Given the description of an element on the screen output the (x, y) to click on. 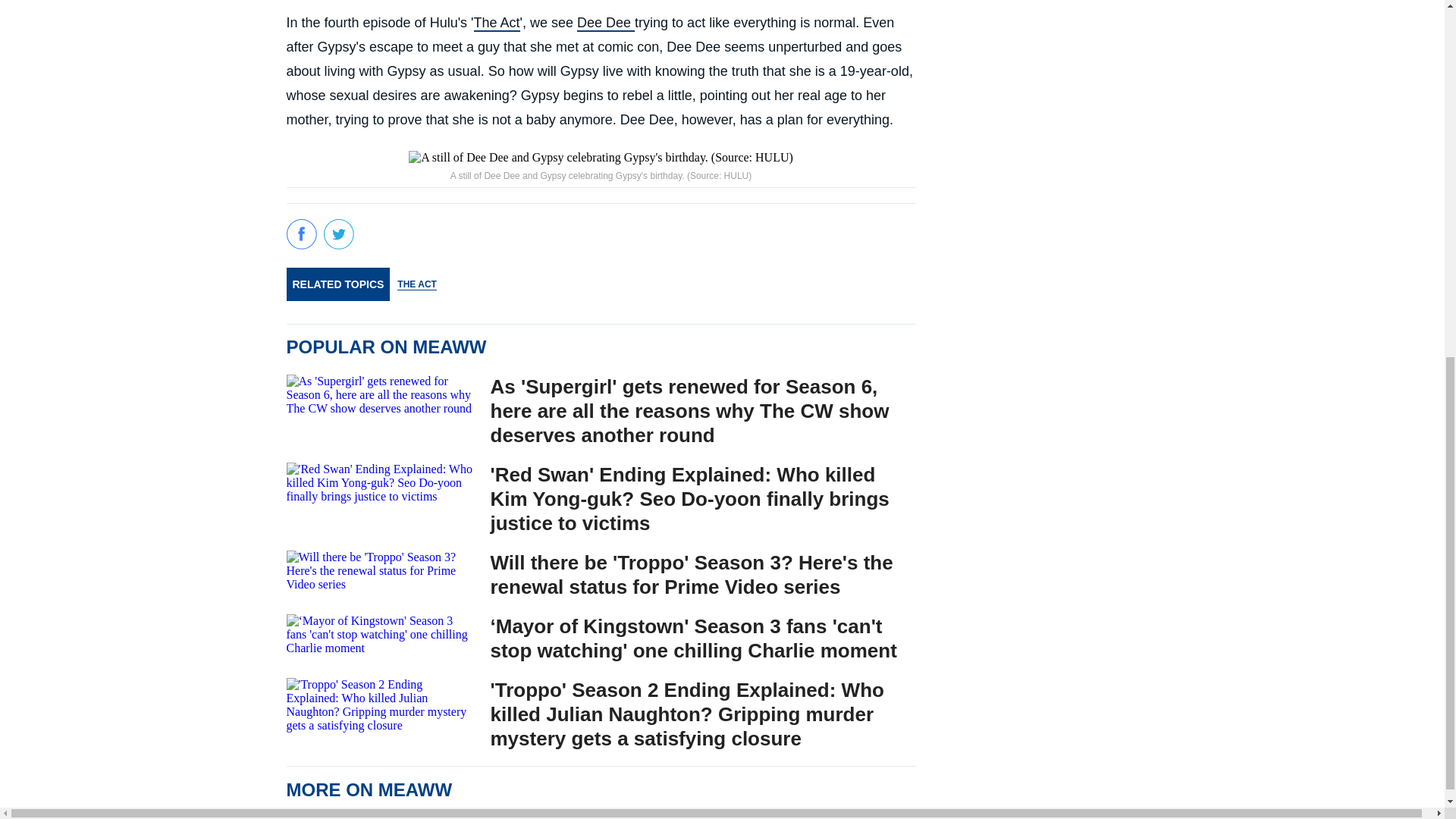
The Act (496, 23)
THE ACT (416, 283)
Dee Dee (605, 23)
